Given the description of an element on the screen output the (x, y) to click on. 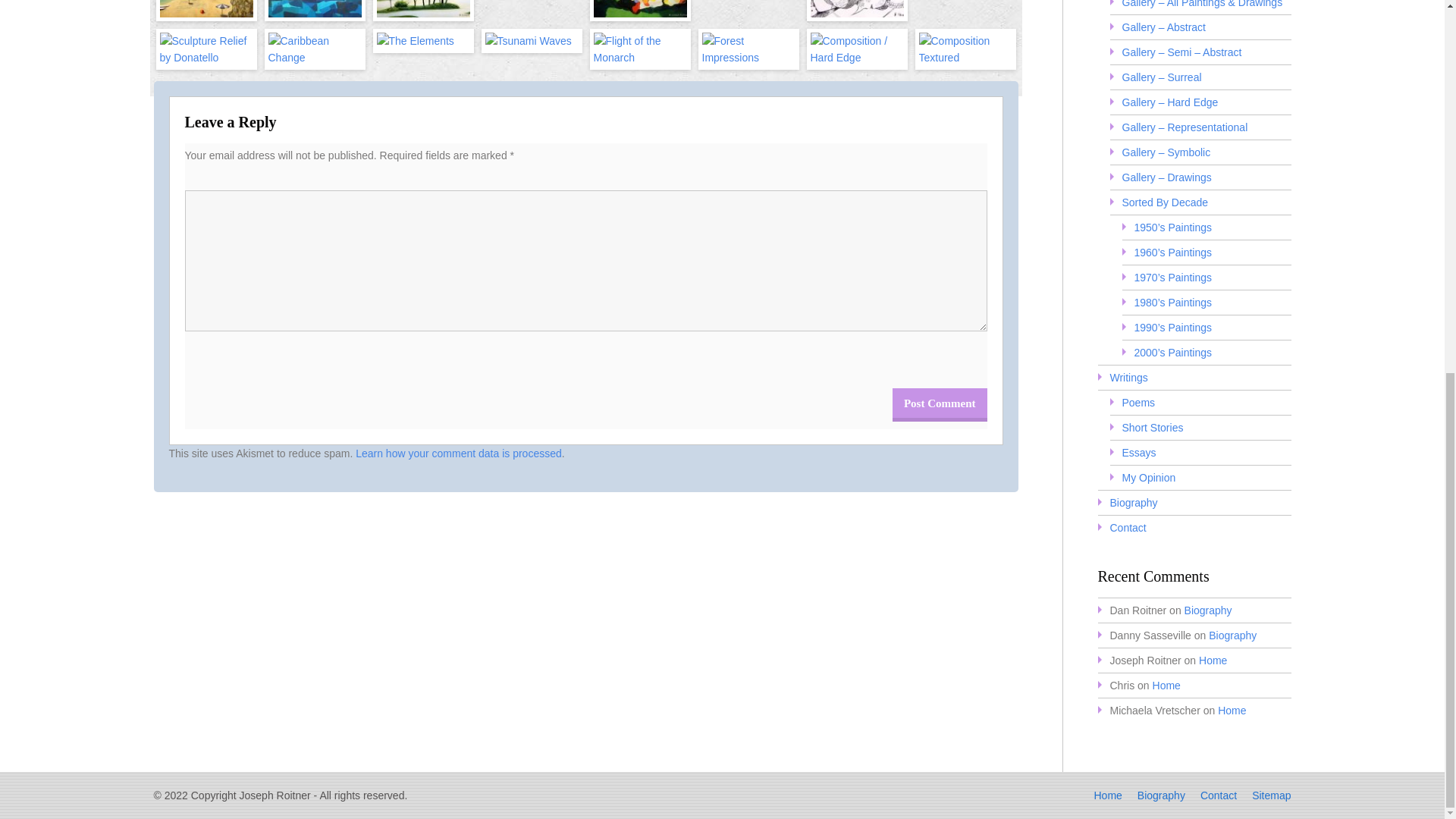
Post Comment (939, 404)
